Given the description of an element on the screen output the (x, y) to click on. 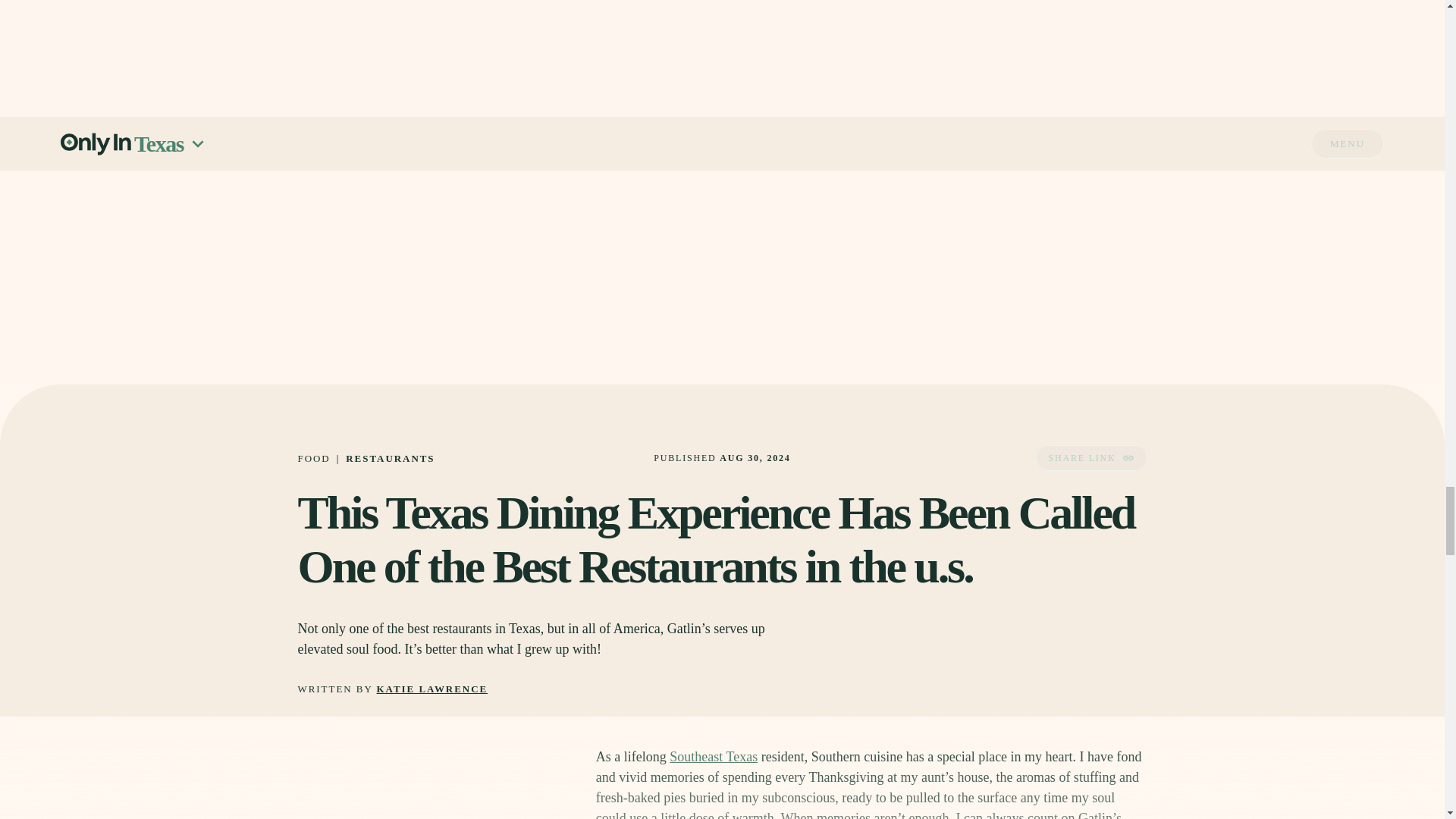
RESTAURANTS (389, 458)
SUBSCRIBE (1075, 64)
FOOD (313, 458)
CHOOSE YOUR STATE (871, 20)
Southeast Texas (713, 756)
KATIE LAWRENCE (432, 689)
SHARE LINK (1091, 457)
